Given the description of an element on the screen output the (x, y) to click on. 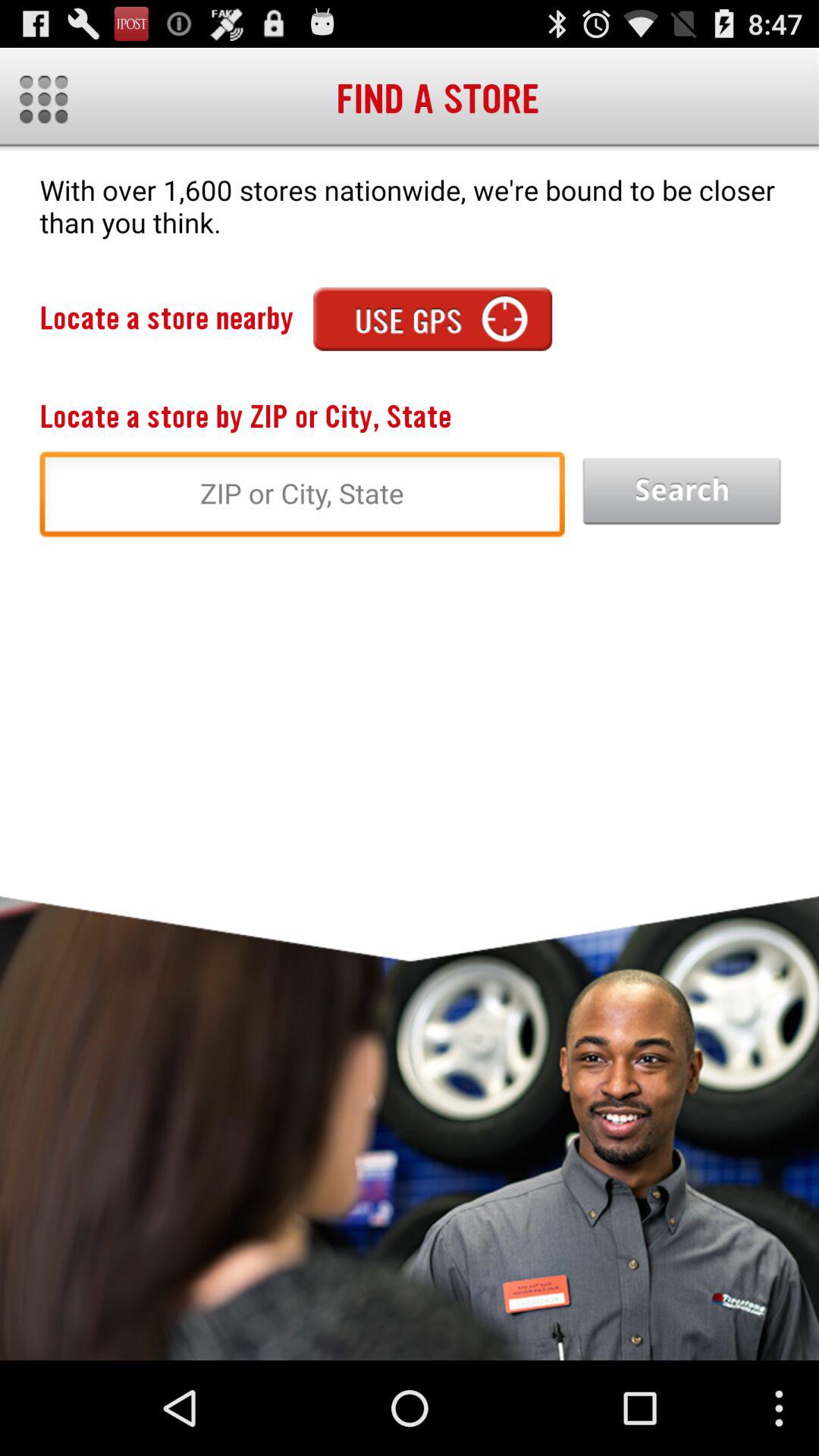
click icon below with over 1 (432, 318)
